Given the description of an element on the screen output the (x, y) to click on. 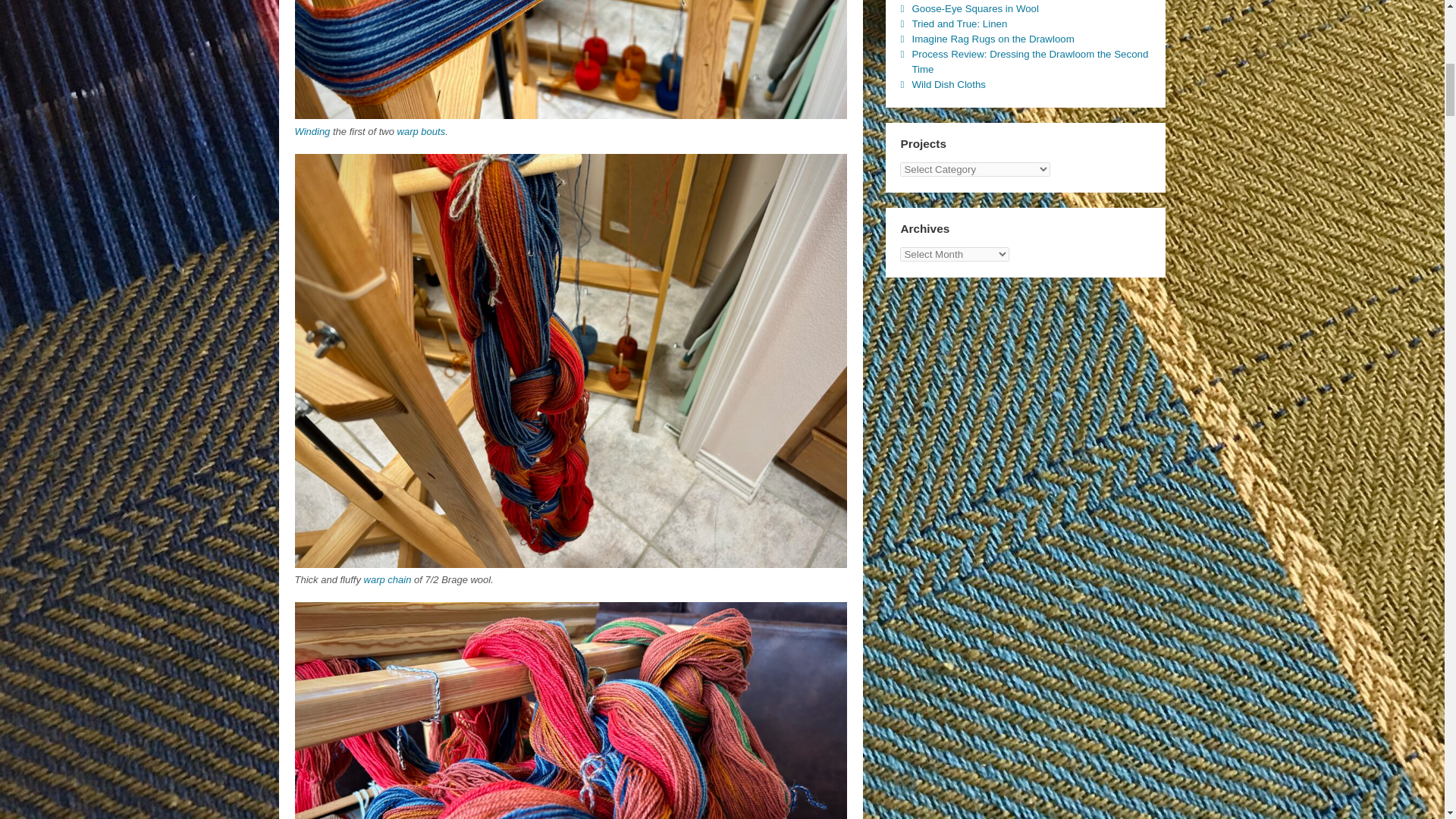
warp (408, 131)
Winding (312, 131)
bouts (432, 131)
Thick Warp Chain (569, 559)
Warping Reel (569, 110)
warp chain (388, 579)
